Given the description of an element on the screen output the (x, y) to click on. 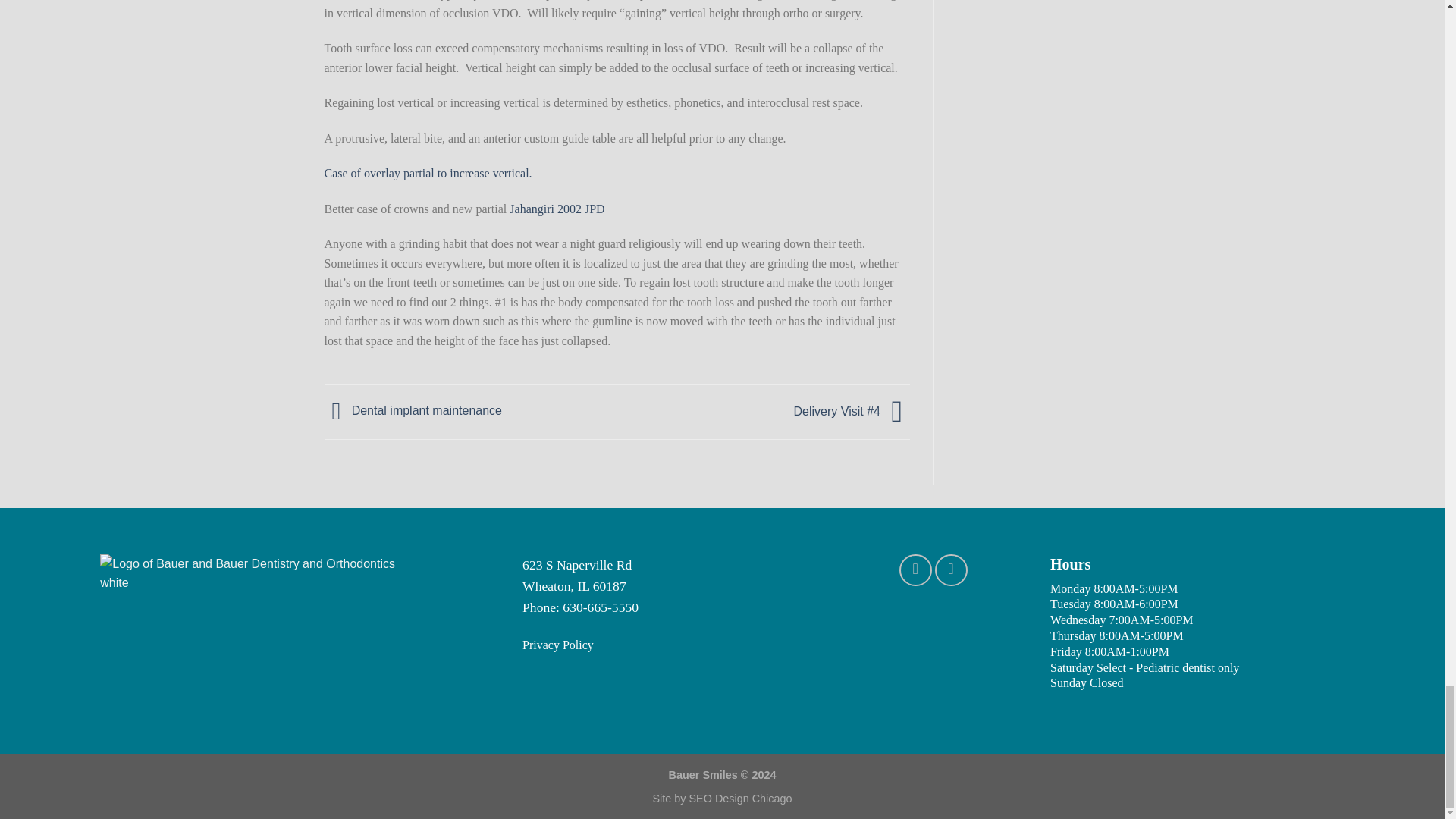
Follow on Facebook (915, 570)
Follow on Instagram (951, 570)
